Given the description of an element on the screen output the (x, y) to click on. 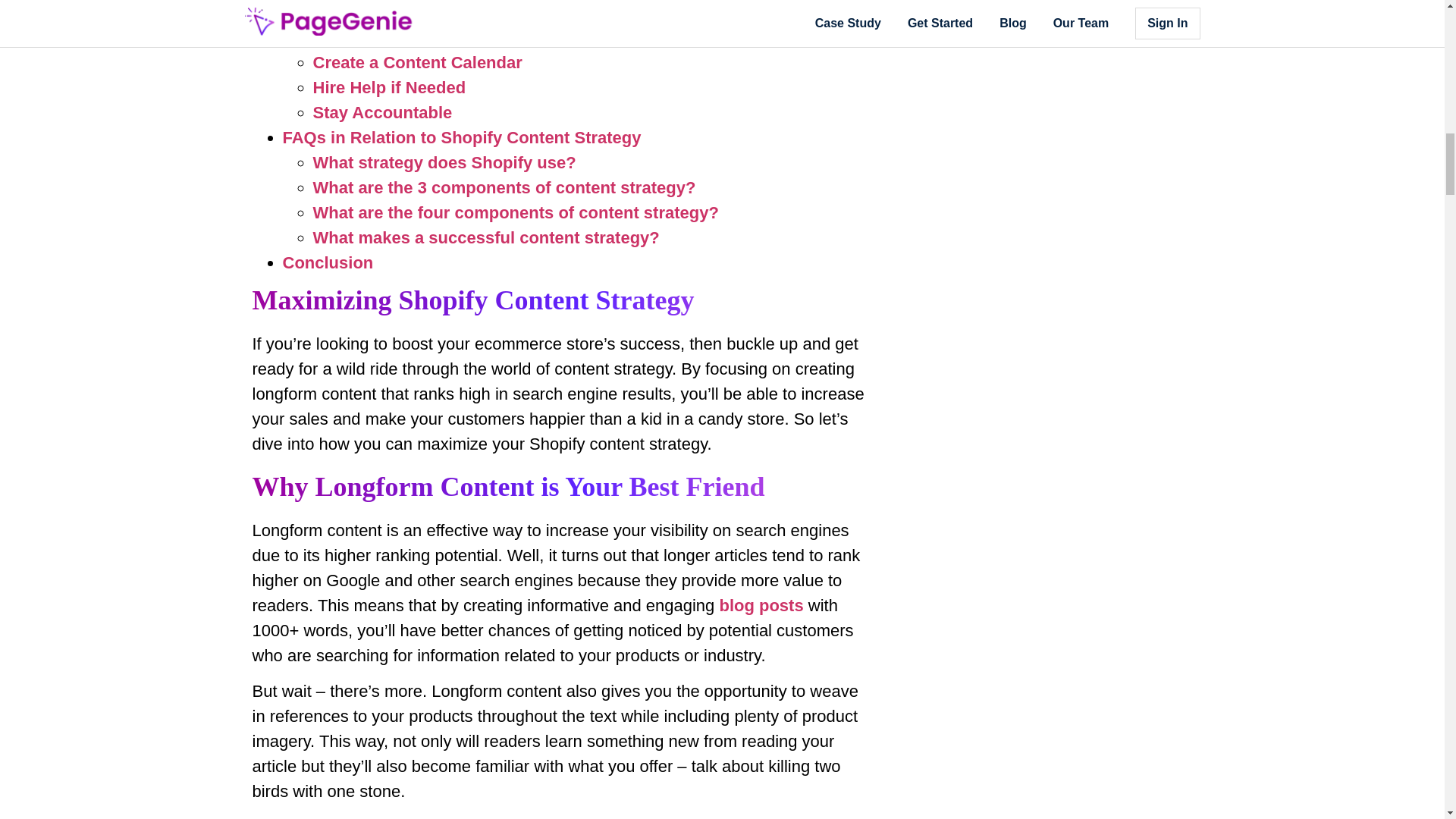
Blog Posts (761, 605)
